Given the description of an element on the screen output the (x, y) to click on. 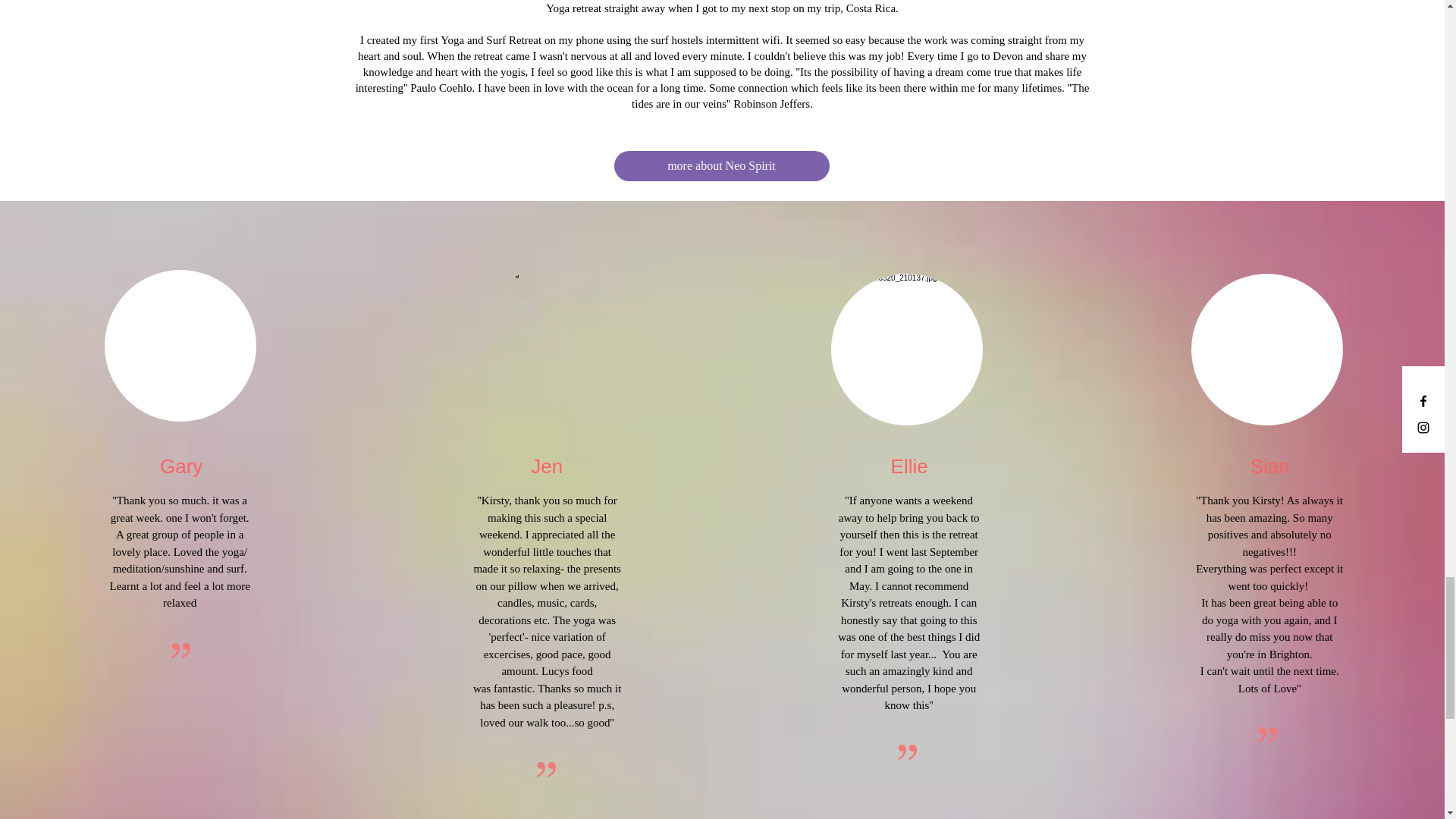
GettyImages-535587703.jpg (180, 345)
GettyImages-145680711.jpg (1266, 349)
GettyImages-145680711.jpg (906, 349)
GettyImages-124893619.jpg (545, 345)
more about Neo Spirit (721, 165)
